Given the description of an element on the screen output the (x, y) to click on. 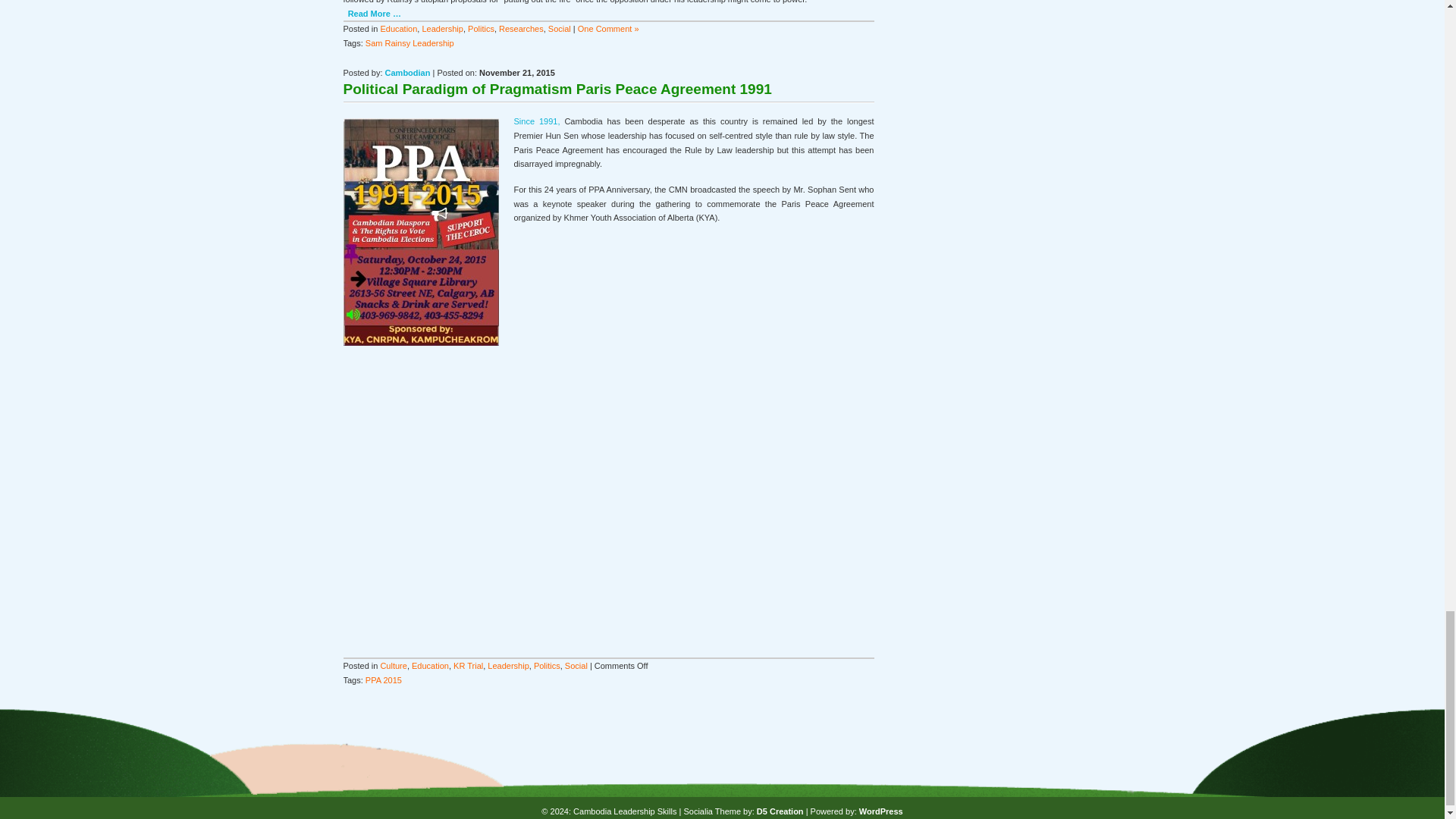
Posts by Cambodian (407, 71)
